Given the description of an element on the screen output the (x, y) to click on. 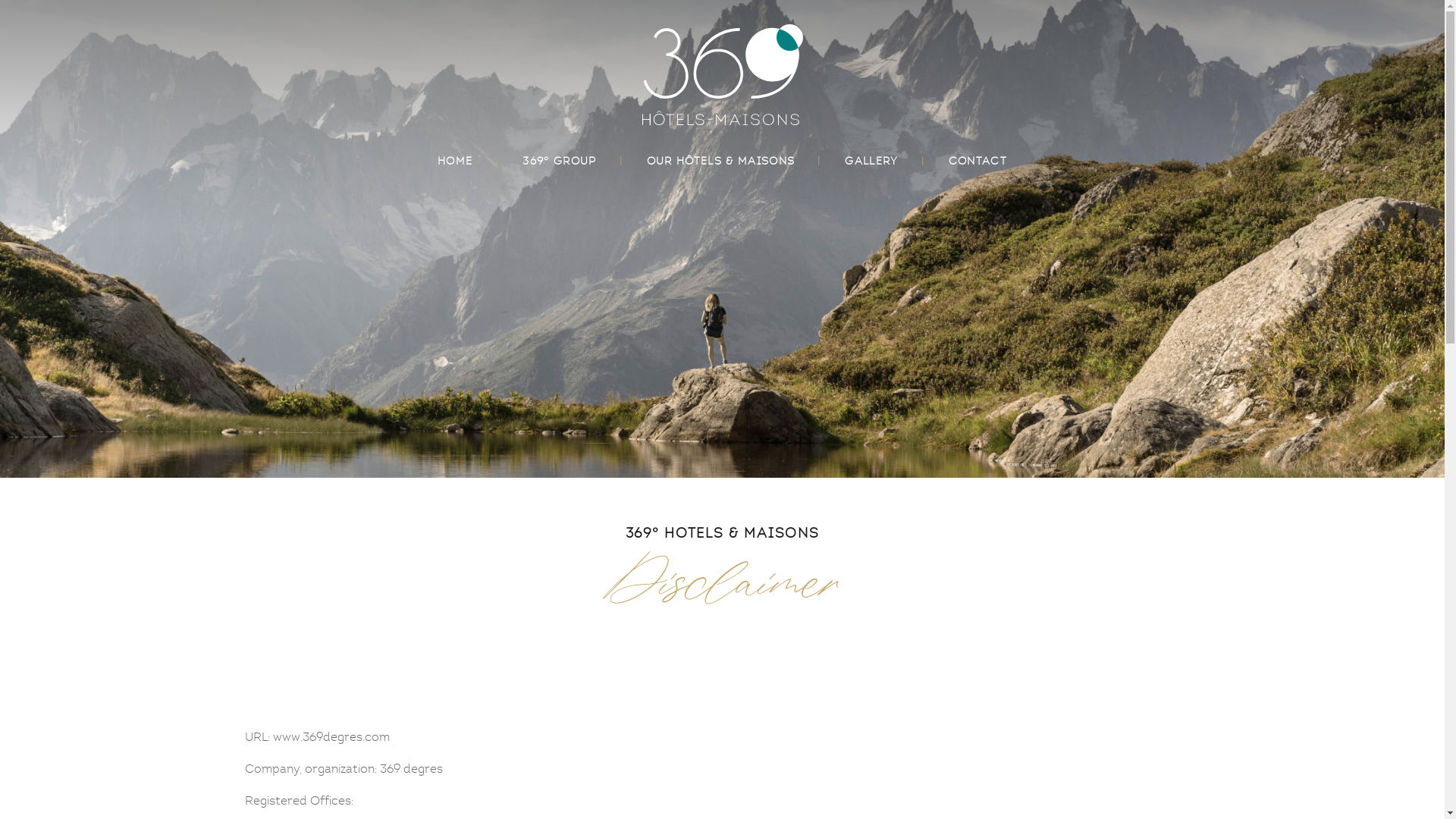
GALLERY Element type: text (870, 160)
HOME Element type: text (454, 160)
CONTACT Element type: text (977, 160)
